Given the description of an element on the screen output the (x, y) to click on. 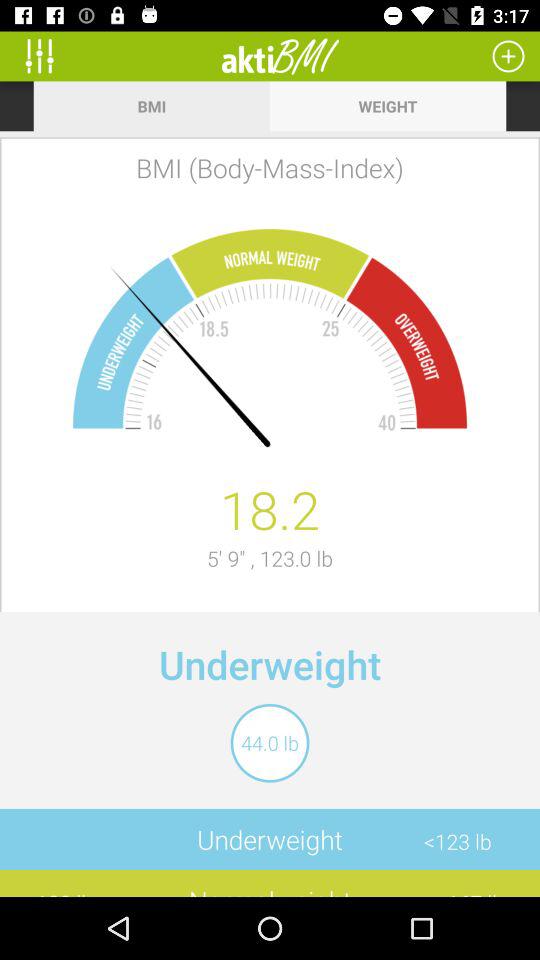
open settings (46, 56)
